Given the description of an element on the screen output the (x, y) to click on. 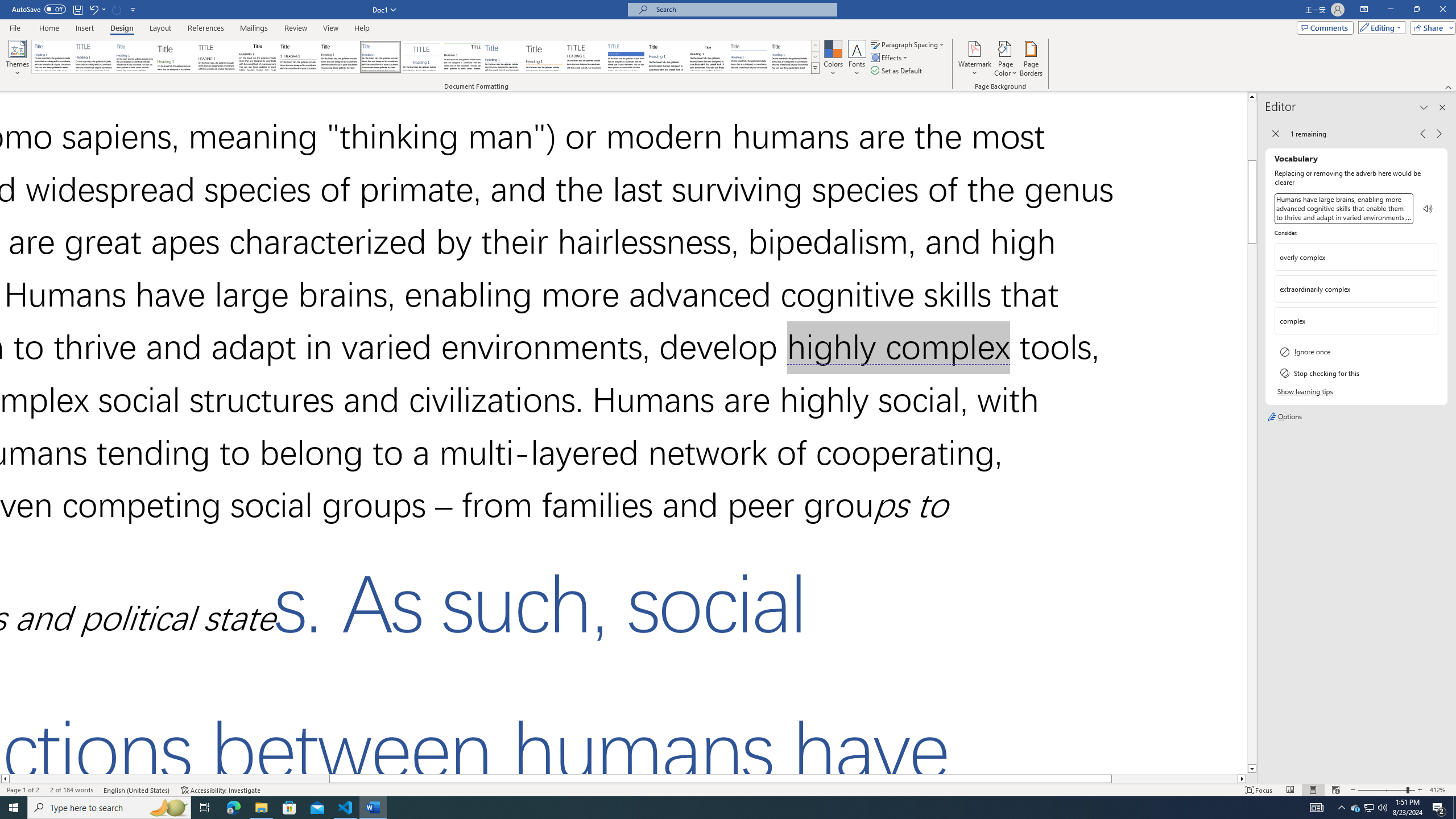
Layout (160, 28)
Previous Issue, 1 remaining (1422, 133)
Black & White (Word 2013) (338, 56)
Black & White (Capitalized) (216, 56)
Casual (379, 56)
System (6, 6)
Task Pane Options (1423, 107)
Customize Quick Access Toolbar (133, 9)
Fonts (856, 58)
complex (1347, 320)
Stop checking for this (1356, 372)
Row up (814, 45)
Web Layout (1335, 790)
More options for overly complex (1428, 257)
